Given the description of an element on the screen output the (x, y) to click on. 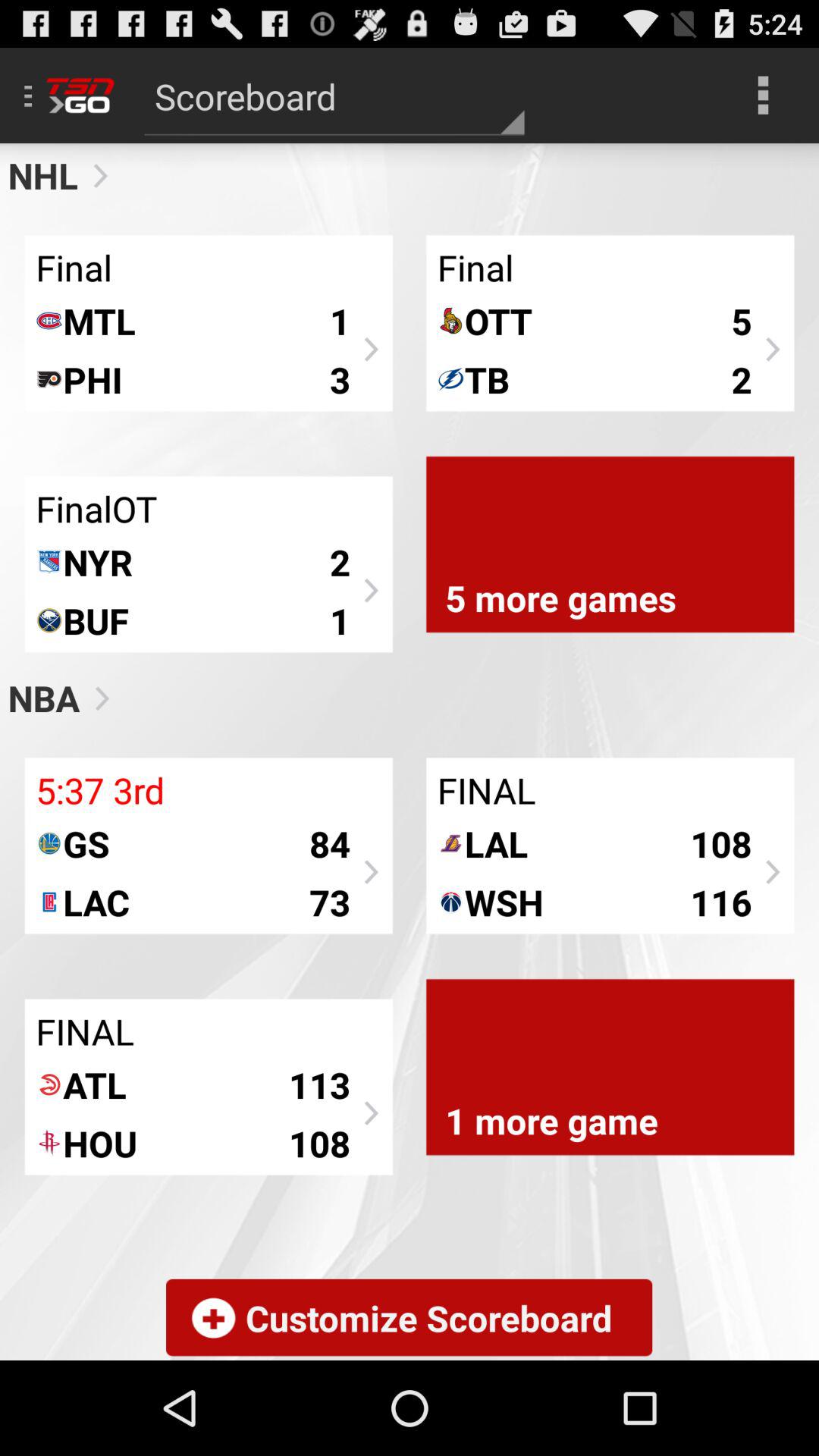
flip until customize scoreboard (409, 1318)
